Given the description of an element on the screen output the (x, y) to click on. 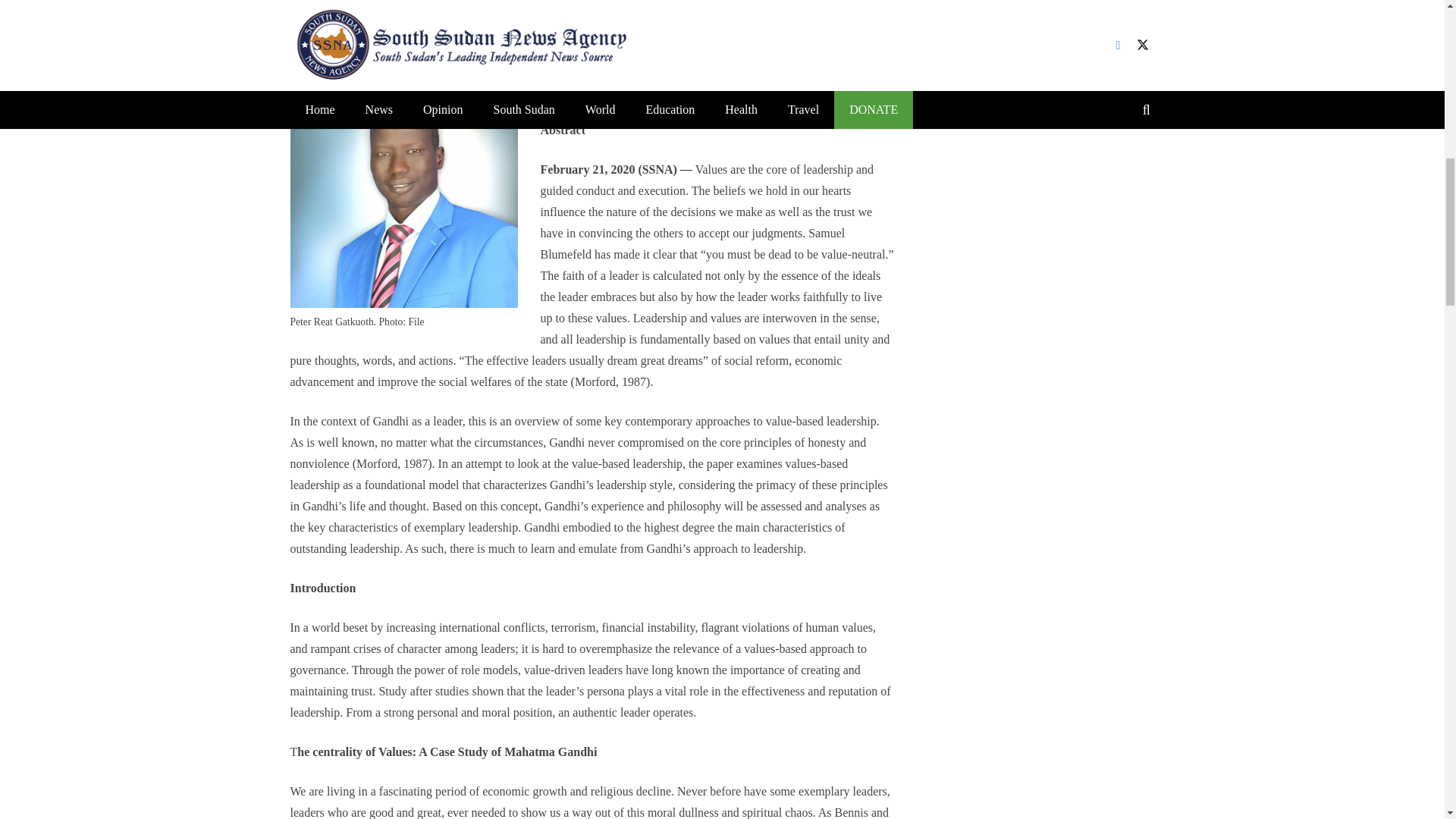
Articles (388, 39)
No Comments (500, 39)
No Comments (500, 39)
Back to top (1413, 26)
Opinion (428, 39)
